Given the description of an element on the screen output the (x, y) to click on. 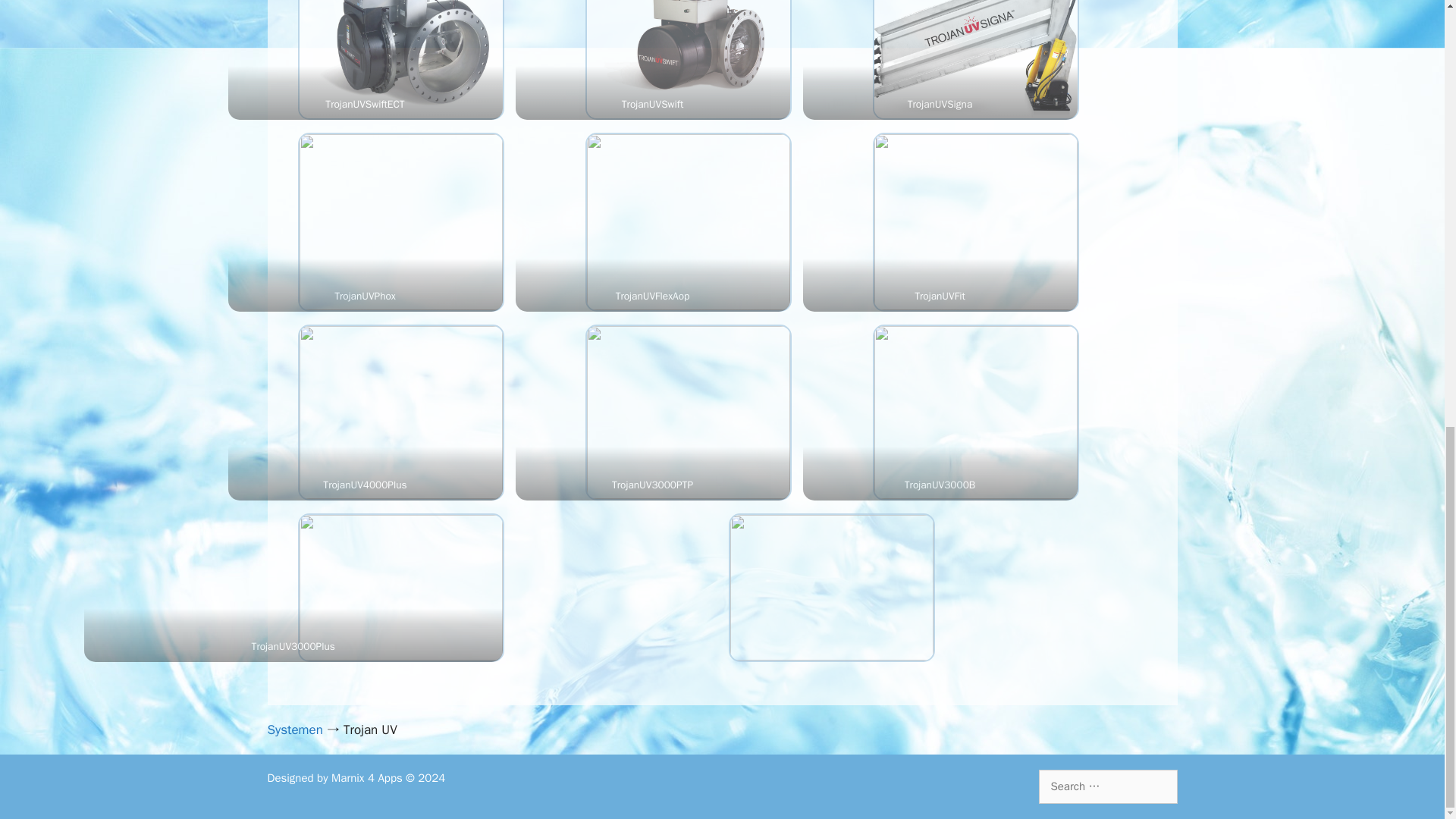
TrojanUV3000Plus (400, 587)
TrojanUVSigna (975, 58)
Marnix 4 Apps (367, 777)
TrojanUVFit (975, 222)
TrojanUVSwift (688, 58)
TrojanUVFlex (688, 222)
TrojanUVPhox (400, 222)
TrojanUV4000Plus (400, 411)
TrojanUVSwiftECT (400, 58)
TrojanUV3000PTP (688, 411)
Systemen (293, 729)
TrojanUV3000B (975, 411)
